Given the description of an element on the screen output the (x, y) to click on. 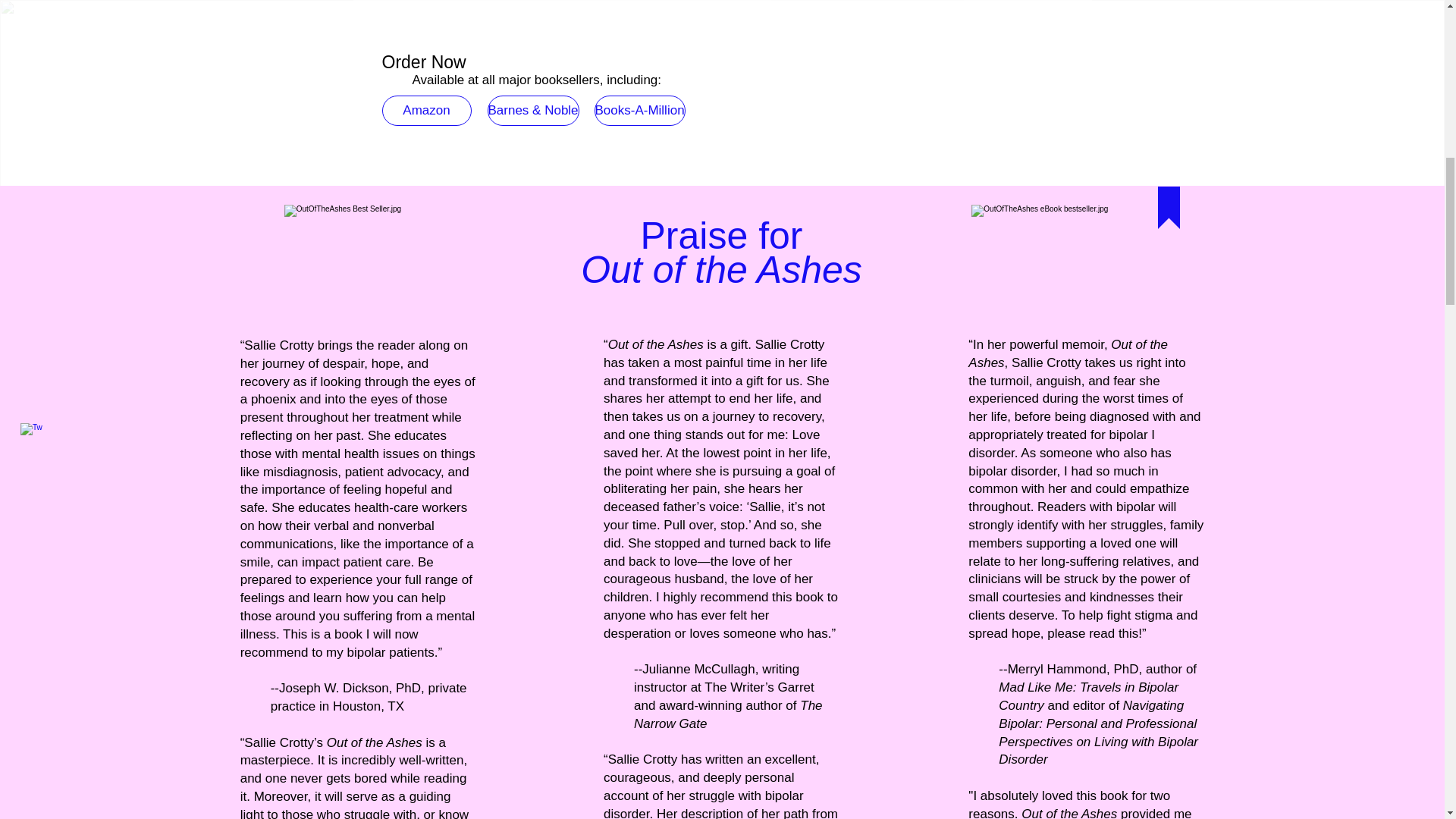
Amazon (426, 110)
Books-A-Million (639, 110)
